Given the description of an element on the screen output the (x, y) to click on. 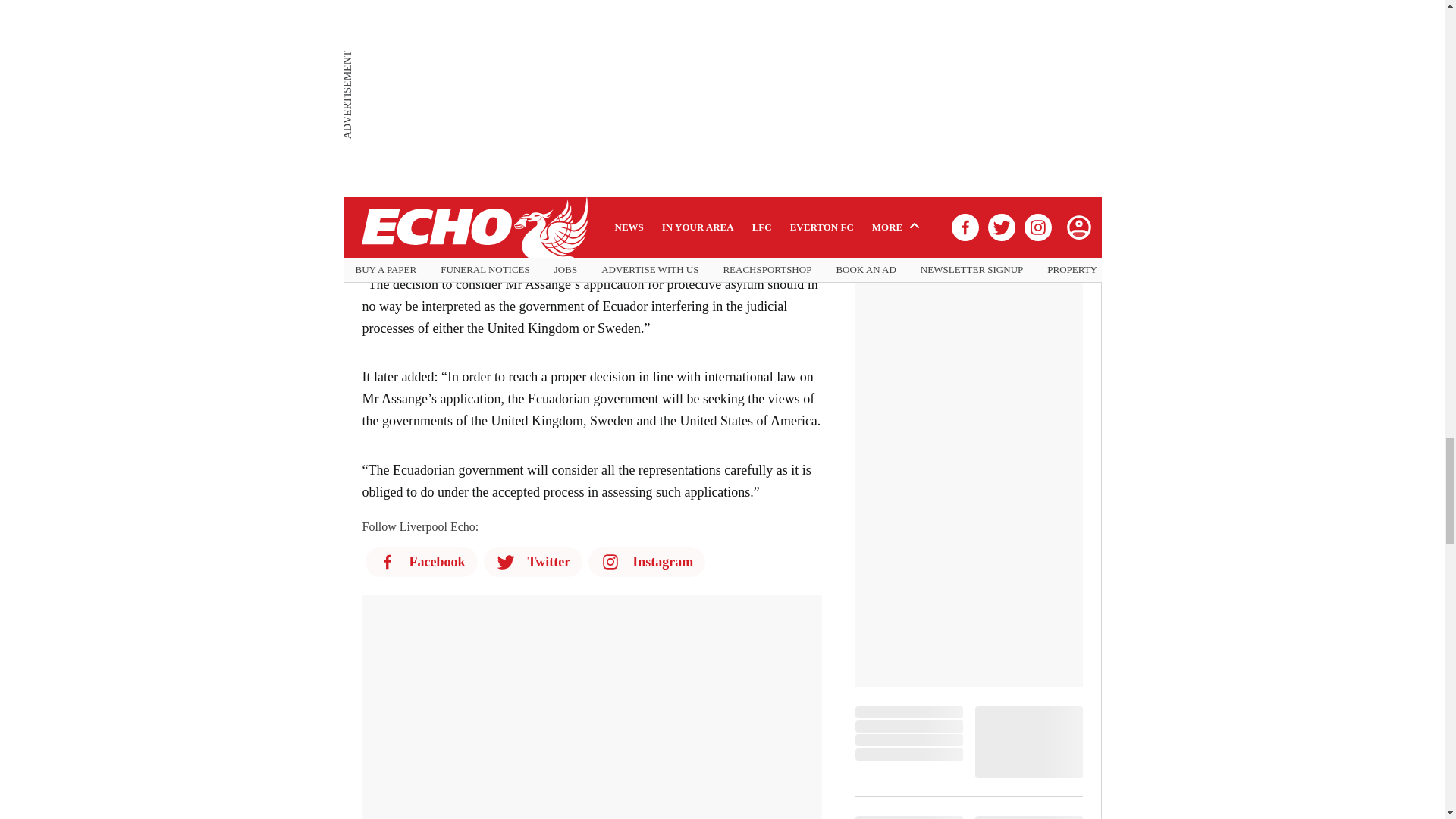
Facebook (421, 562)
Twitter (533, 562)
Instagram (646, 562)
